Given the description of an element on the screen output the (x, y) to click on. 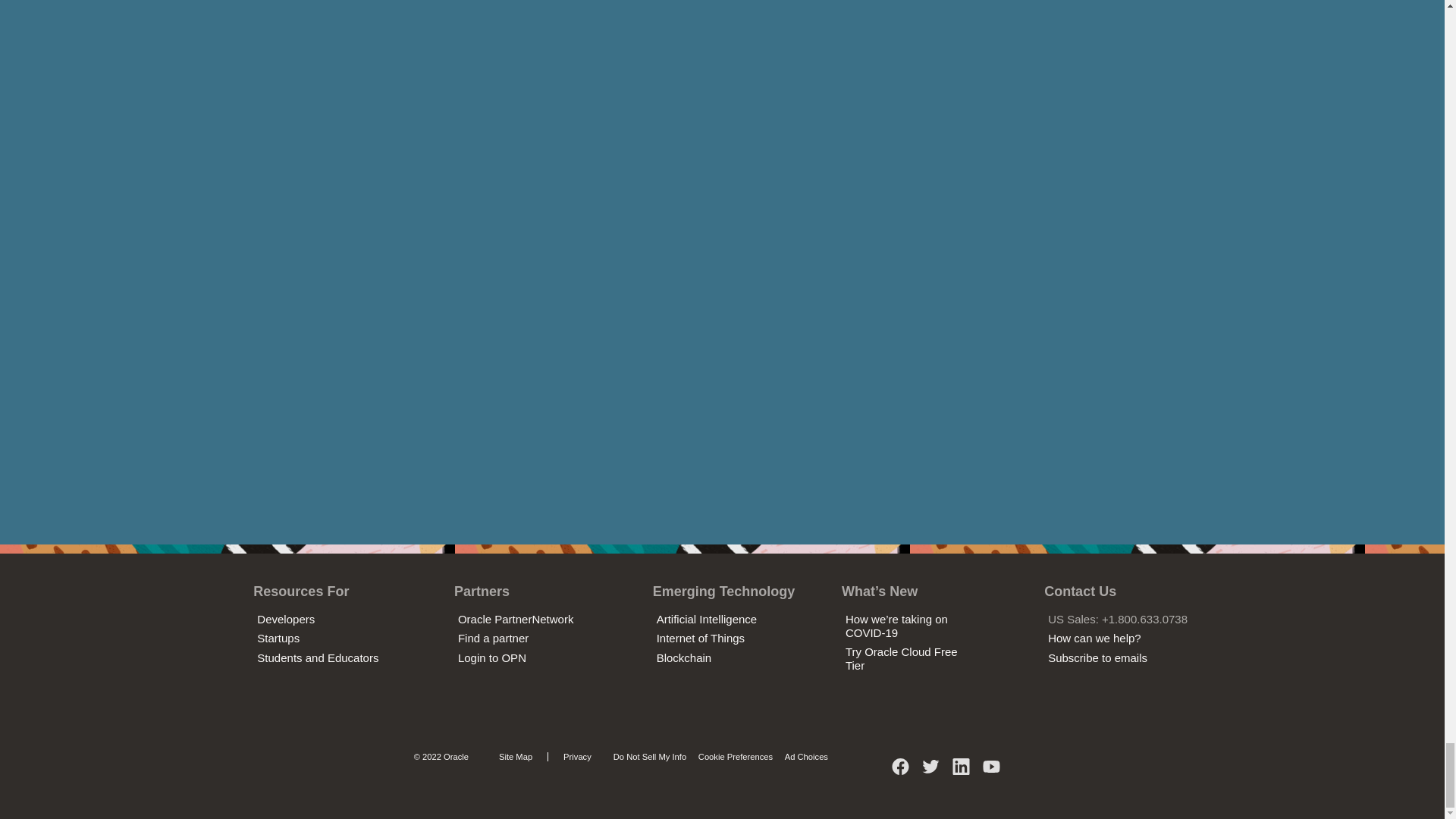
Oracle on LinkedIn (961, 771)
Follow Oracle on Twitter (931, 771)
Watch Oracle on YouTube (991, 771)
Oracle on Facebook (900, 771)
